Given the description of an element on the screen output the (x, y) to click on. 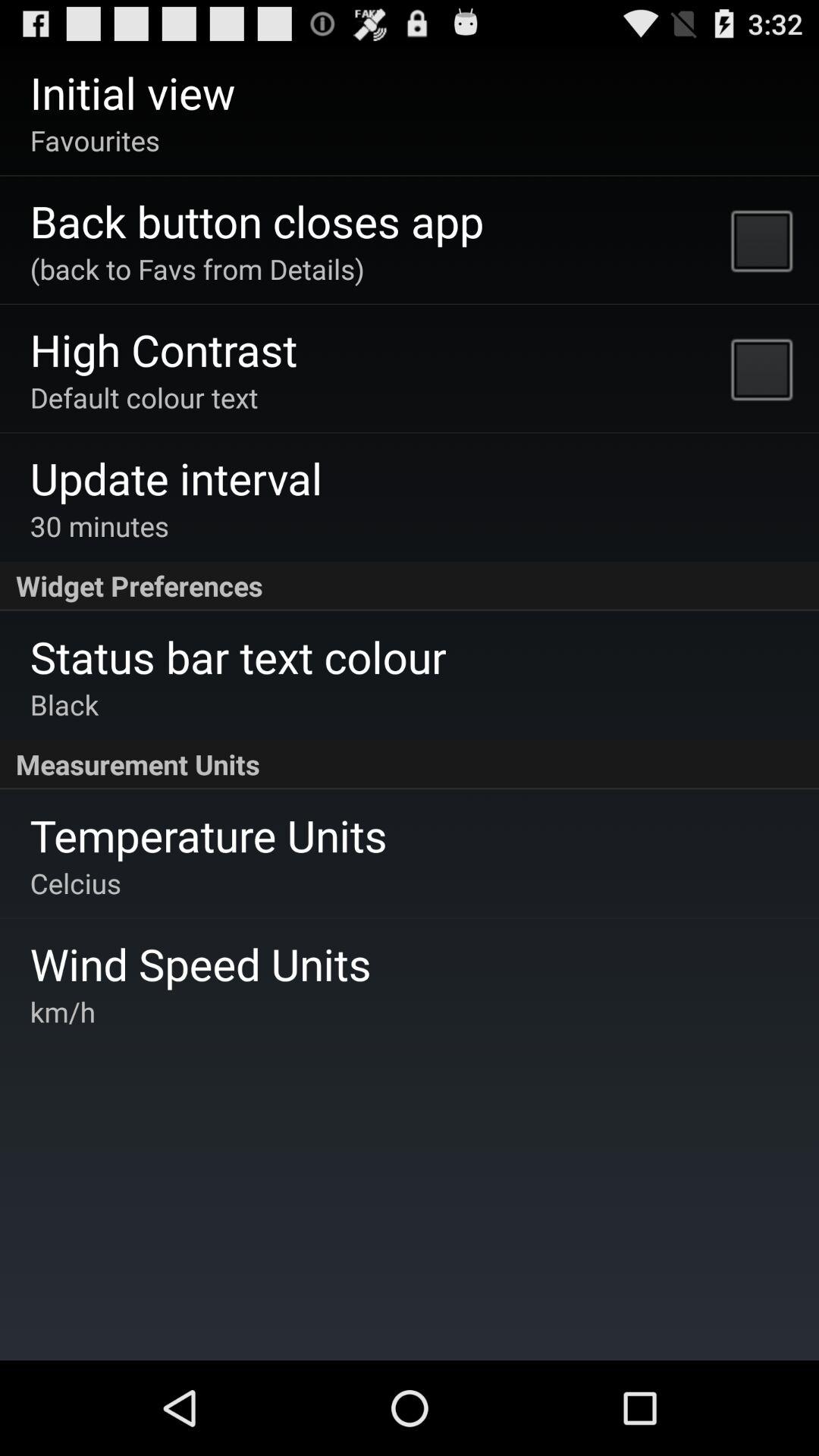
launch the item below temperature units (75, 883)
